Given the description of an element on the screen output the (x, y) to click on. 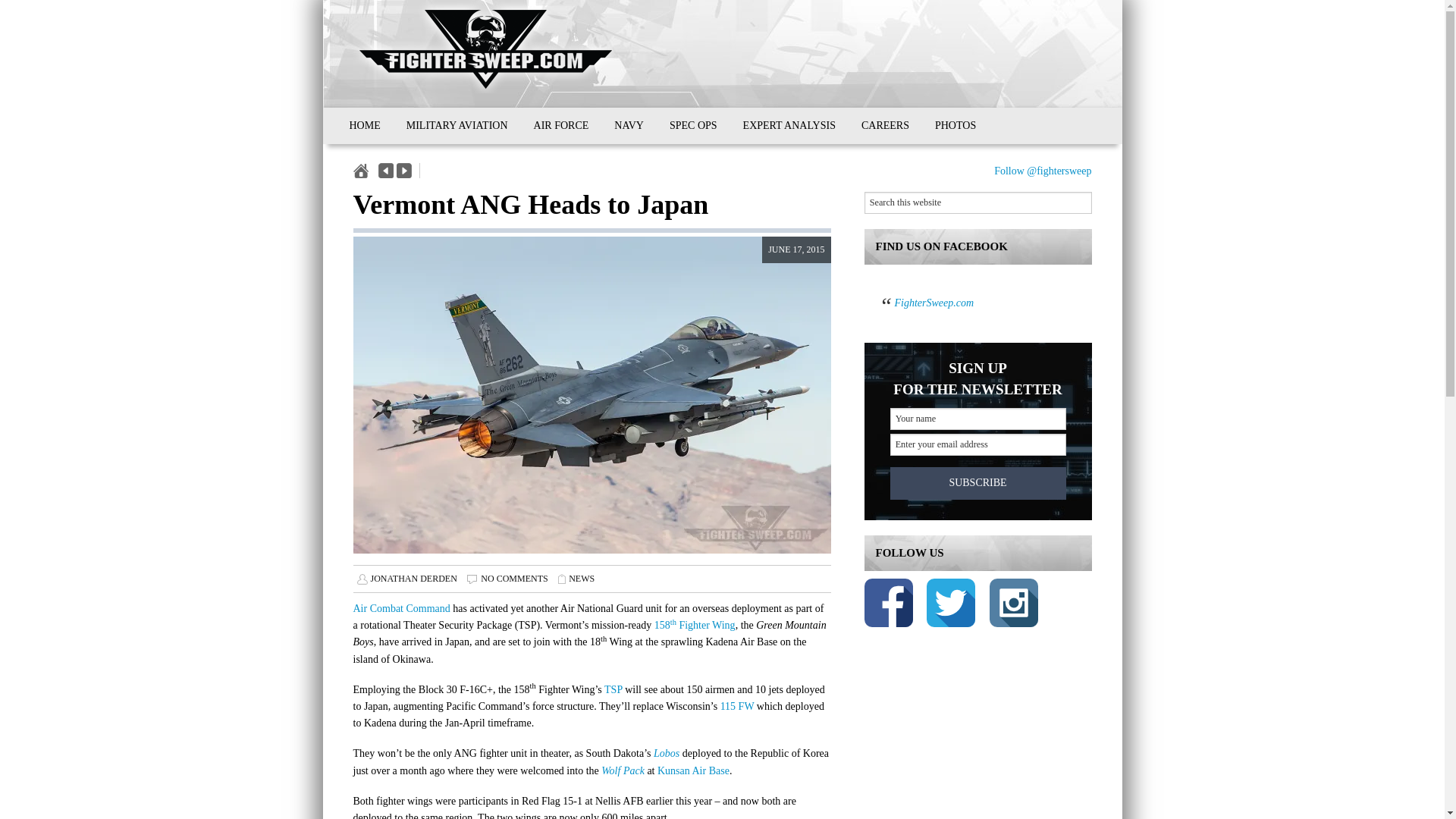
Enter your email address (977, 444)
NAVY (628, 125)
115 FW (735, 706)
HOME (364, 125)
NEWS (581, 578)
MILITARY AVIATION (456, 125)
158th Fighter Wing (694, 624)
Wolf Pack (623, 770)
Posts by Jonathan Derden (413, 578)
